Given the description of an element on the screen output the (x, y) to click on. 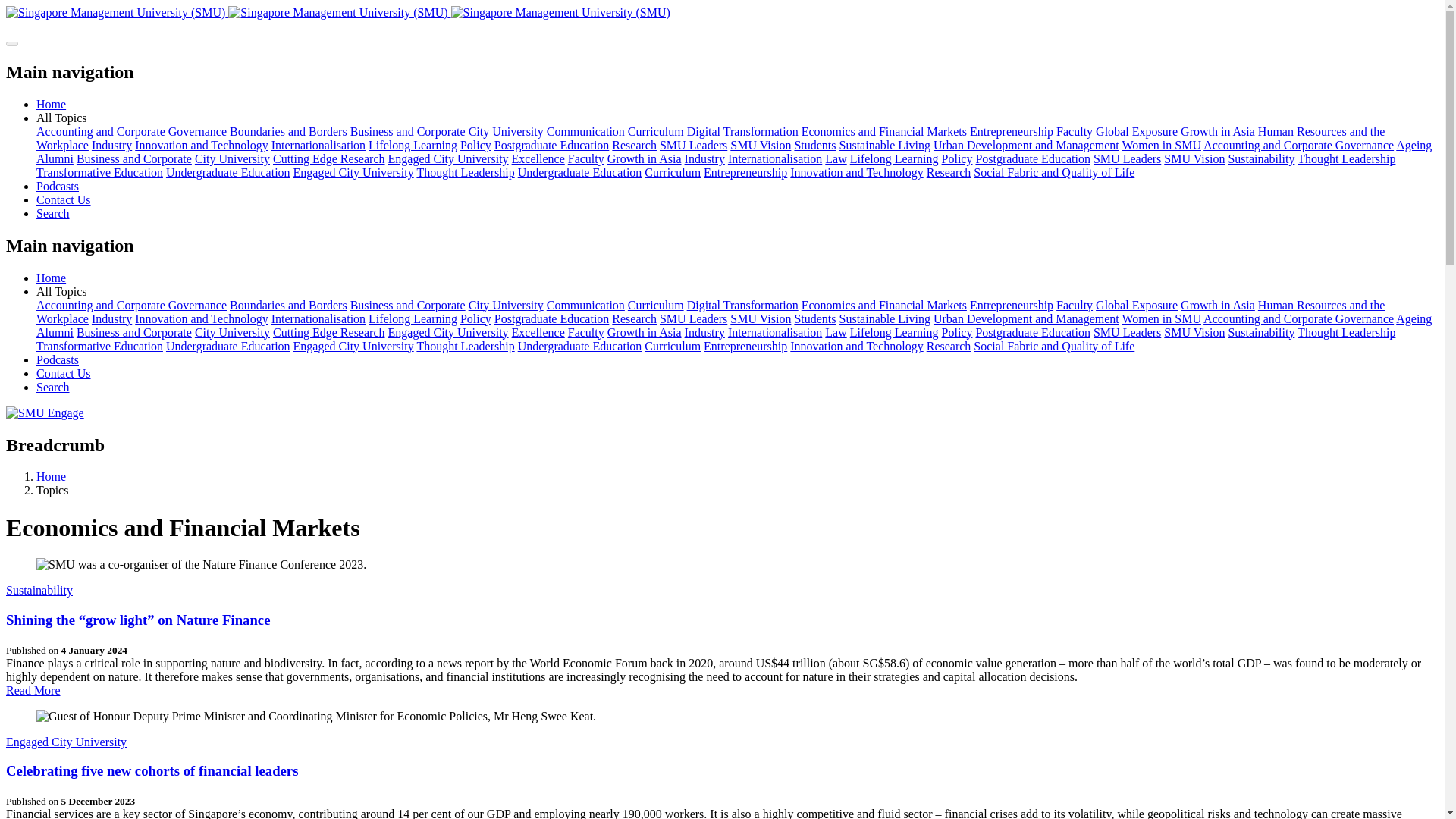
Business and Corporate (407, 131)
Economics and Financial Markets (884, 131)
Innovation and Technology (201, 144)
Human Resources and the Workplace (710, 138)
Sustainable Living (885, 144)
Lifelong Learning (412, 144)
Entrepreneurship (1010, 131)
Urban Development and Management (1026, 144)
Faculty (585, 158)
Excellence (538, 158)
